Given the description of an element on the screen output the (x, y) to click on. 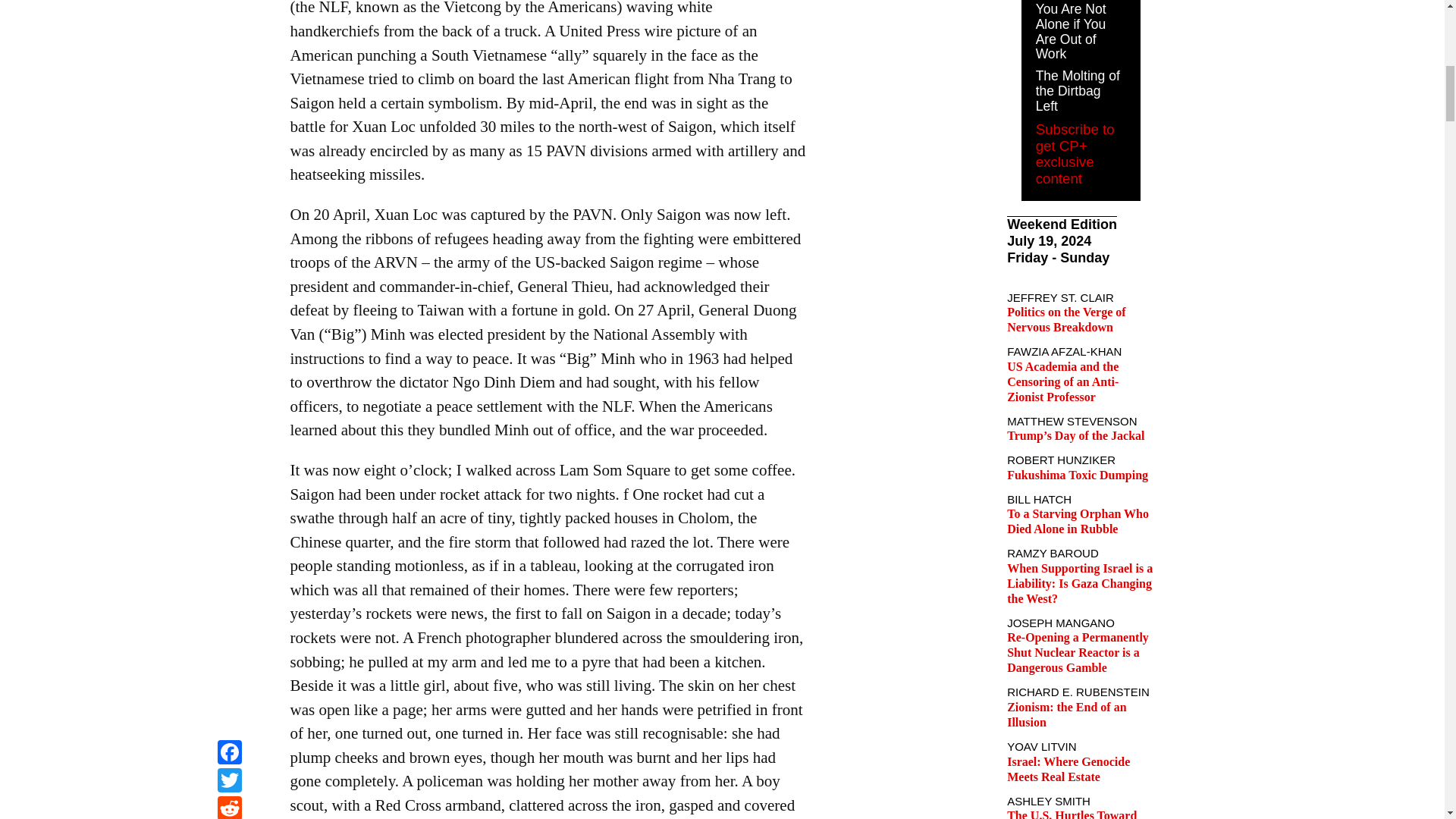
Politics on the Verge of Nervous Breakdown (1066, 319)
You Are Not Alone if You Are Out of Work (1070, 31)
Reddit (229, 2)
The Molting of the Dirtbag Left (1077, 90)
Email (229, 18)
Reddit (229, 2)
Email (229, 18)
